Given the description of an element on the screen output the (x, y) to click on. 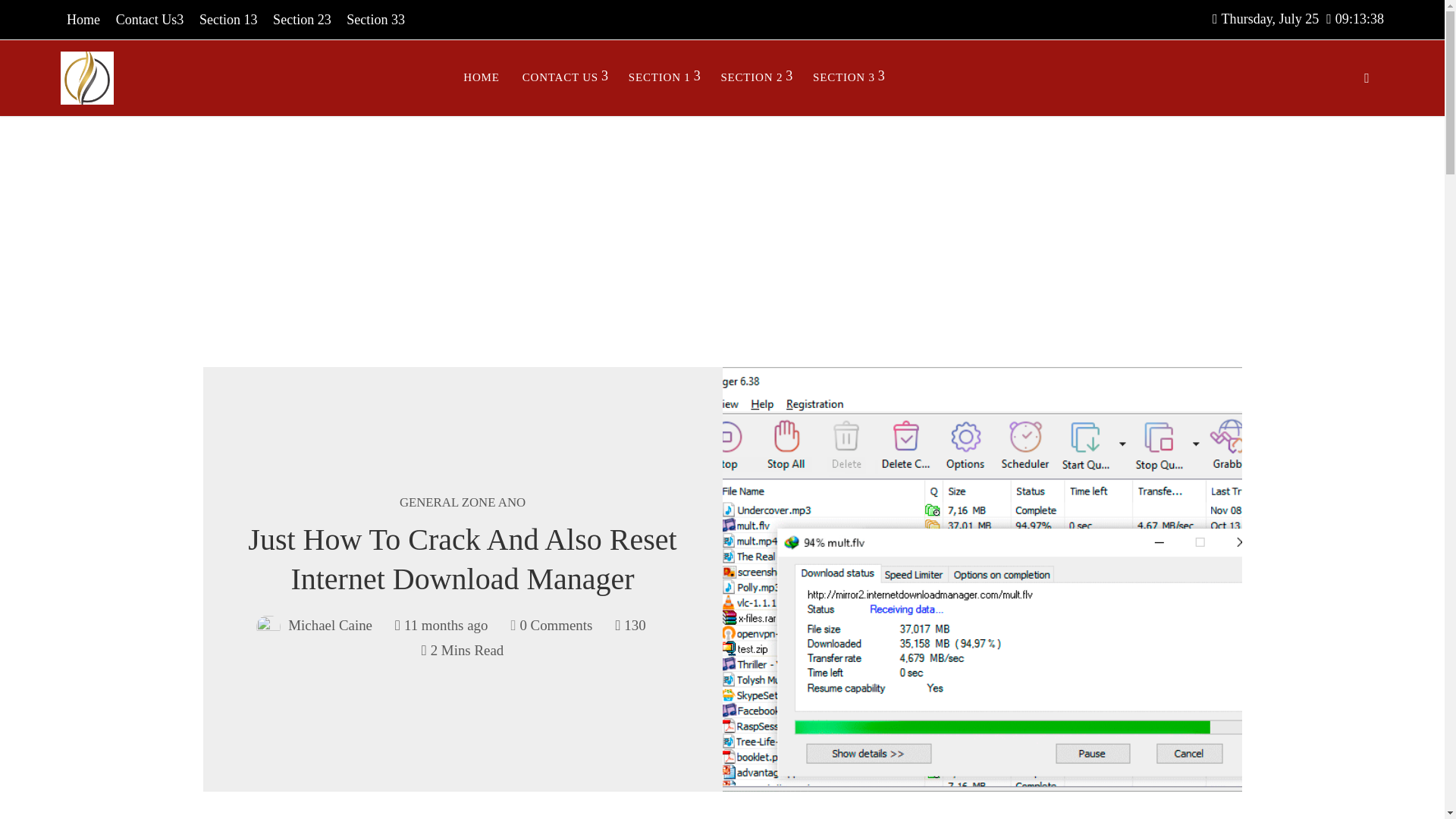
Section 2 (302, 19)
Section 1 (228, 19)
Contact Us (150, 19)
Section 3 (375, 19)
